Given the description of an element on the screen output the (x, y) to click on. 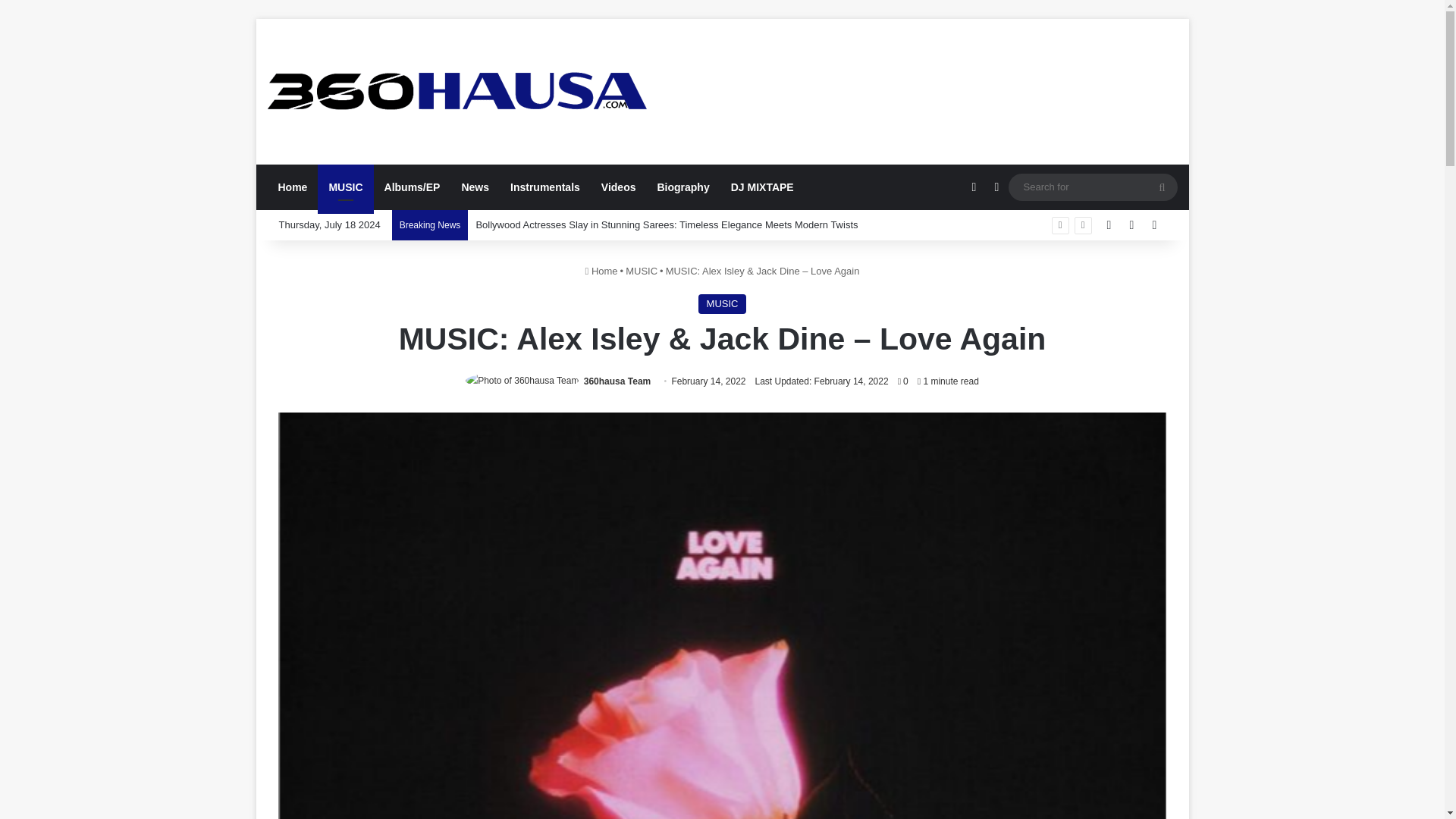
360hausa Team (616, 380)
MUSIC (722, 303)
Switch skin (997, 186)
Home (291, 186)
Random Article (1131, 224)
360hausa Team (616, 380)
News (474, 186)
MUSIC (642, 270)
Videos (618, 186)
Search for (1093, 186)
Random Article (1131, 224)
Biography (682, 186)
DJ MIXTAPE (762, 186)
Log In (1109, 224)
